Given the description of an element on the screen output the (x, y) to click on. 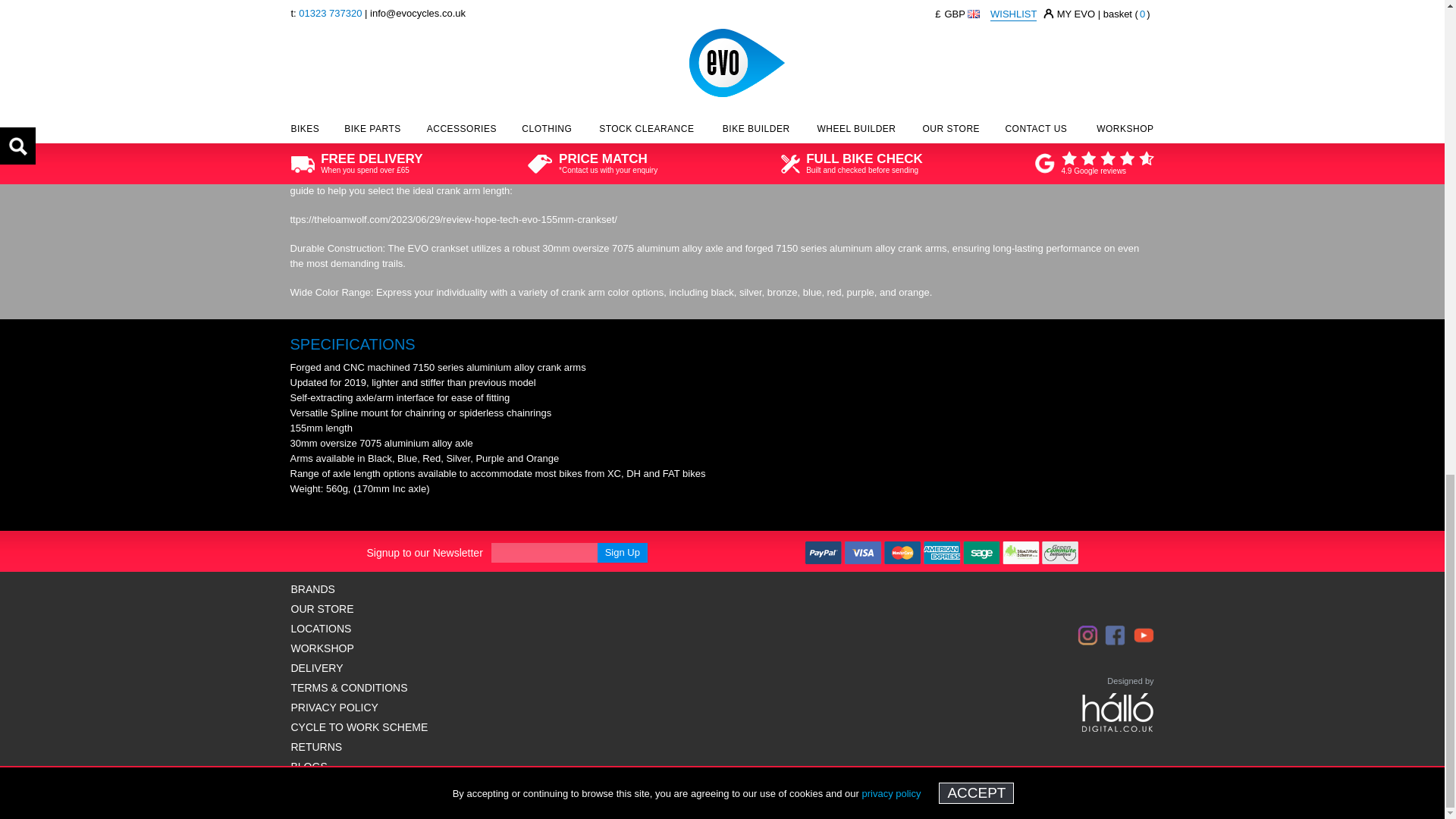
Sign Up (621, 552)
